Given the description of an element on the screen output the (x, y) to click on. 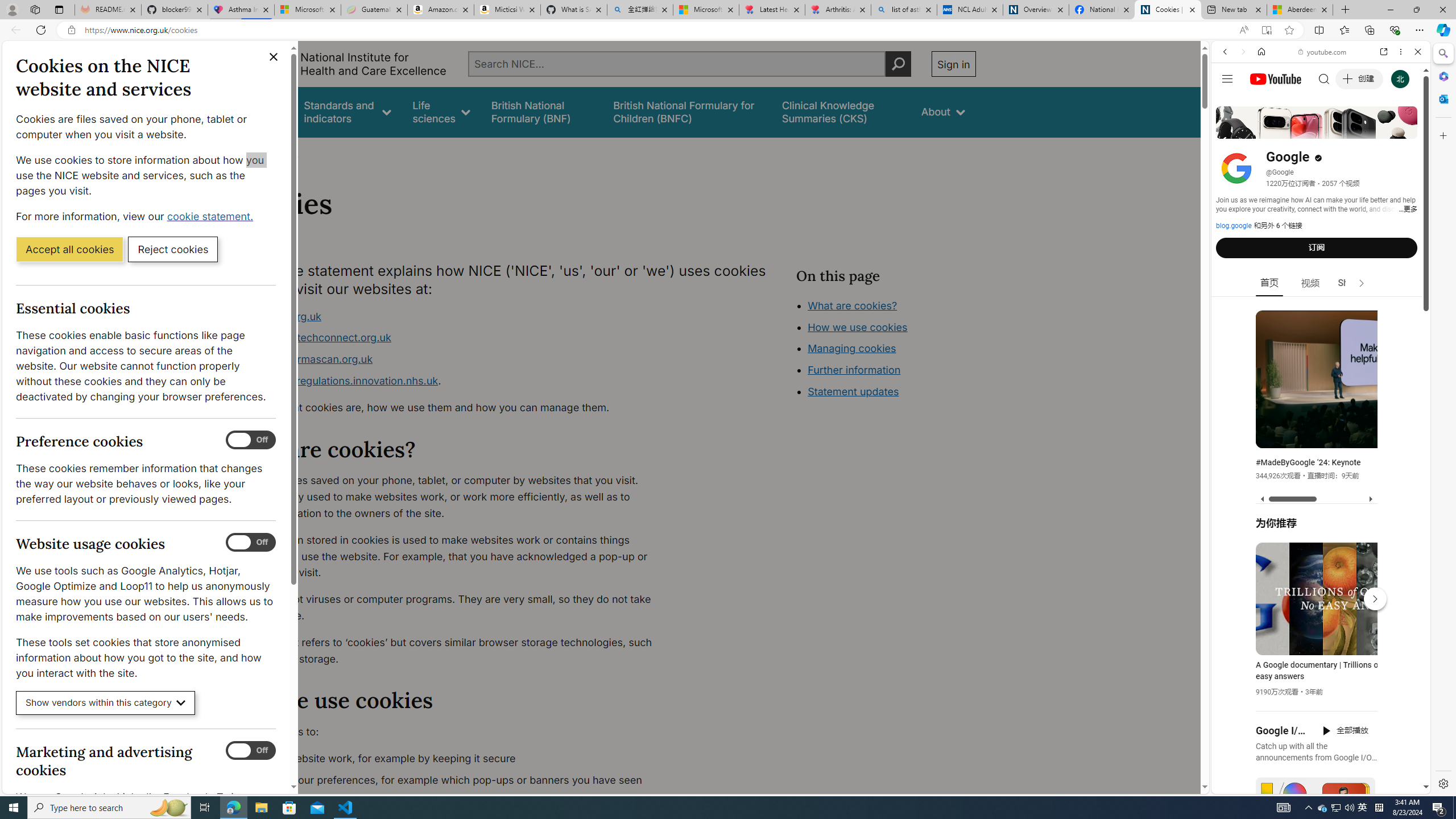
www.ukpharmascan.org.uk (305, 359)
Close cookie banner (273, 56)
Class: dict_pnIcon rms_img (1312, 784)
Search Filter, VIDEOS (1300, 129)
